Given the description of an element on the screen output the (x, y) to click on. 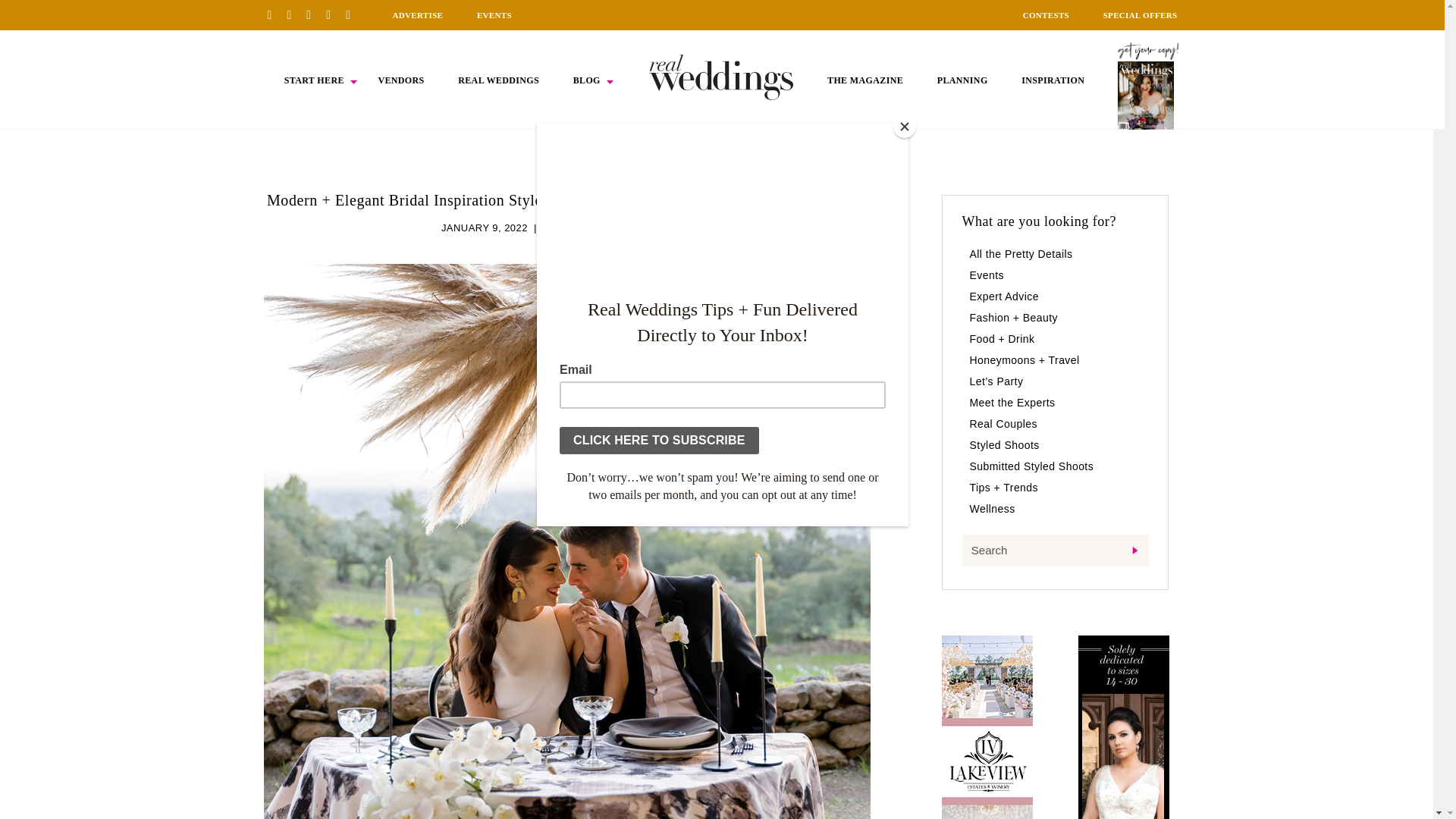
VENDORS (400, 80)
Twitter (334, 14)
PLANNING (962, 80)
BLOG (586, 80)
Search (1054, 550)
Search (1054, 550)
START HERE (313, 80)
Facebook (294, 14)
HOME (721, 76)
YouTube (353, 14)
Pinterest (274, 14)
SPECIAL OFFERS (1140, 14)
THE MAGAZINE (864, 80)
EVENTS (494, 14)
SUBMITTED STYLED SHOOTS (618, 227)
